Given the description of an element on the screen output the (x, y) to click on. 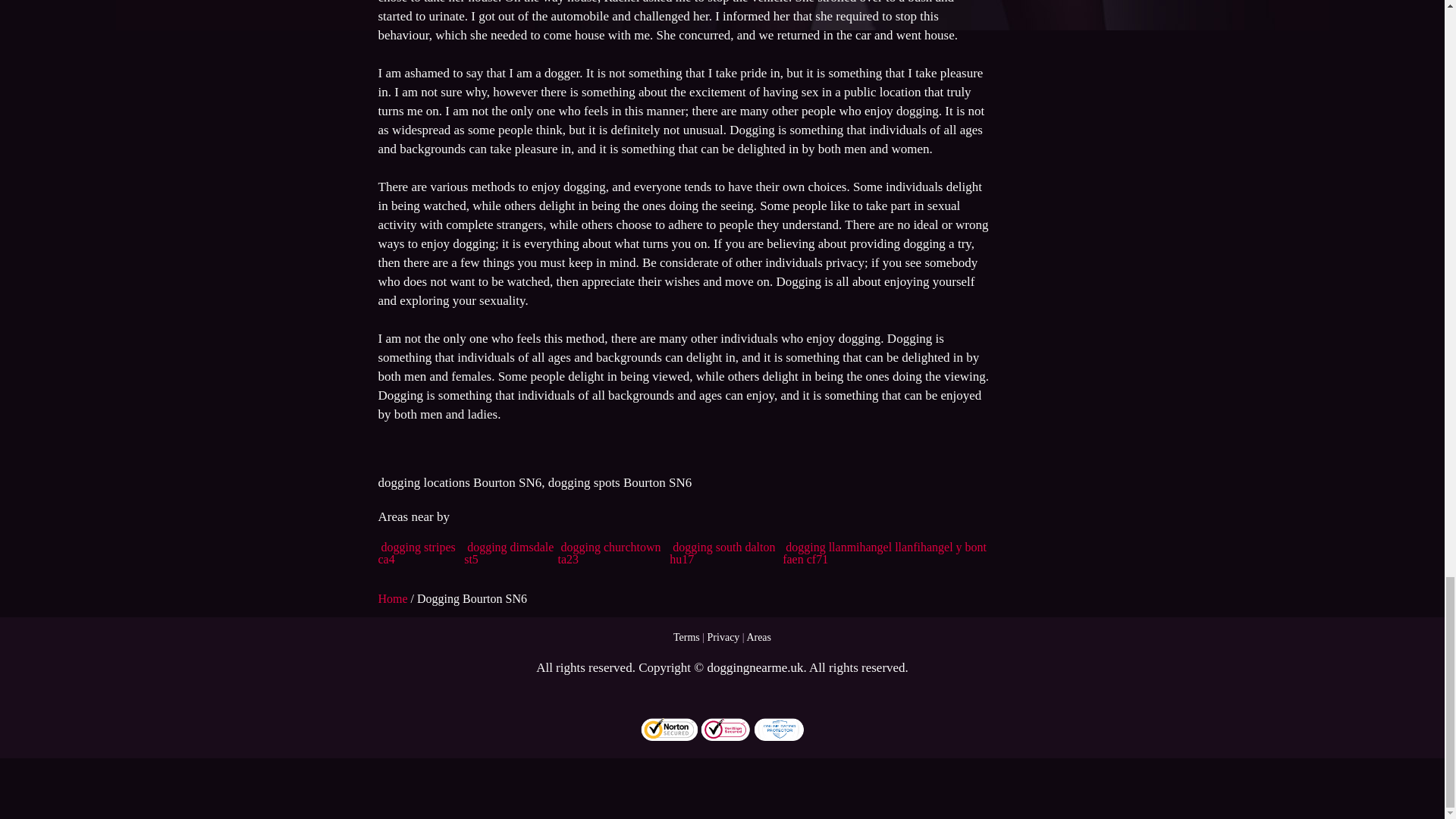
Terms (686, 636)
Areas (758, 636)
Privacy (723, 636)
dogging llanmihangel llanfihangel y bont faen cf71 (885, 552)
dogging stripes ca4 (415, 552)
Privacy (723, 636)
dogging dimsdale st5 (508, 552)
Areas (758, 636)
dogging south dalton hu17 (721, 552)
Home (393, 598)
doggingnearme.uk (755, 667)
Terms (686, 636)
dogging churchtown ta23 (609, 552)
doggingnearme.uk (755, 667)
